Given the description of an element on the screen output the (x, y) to click on. 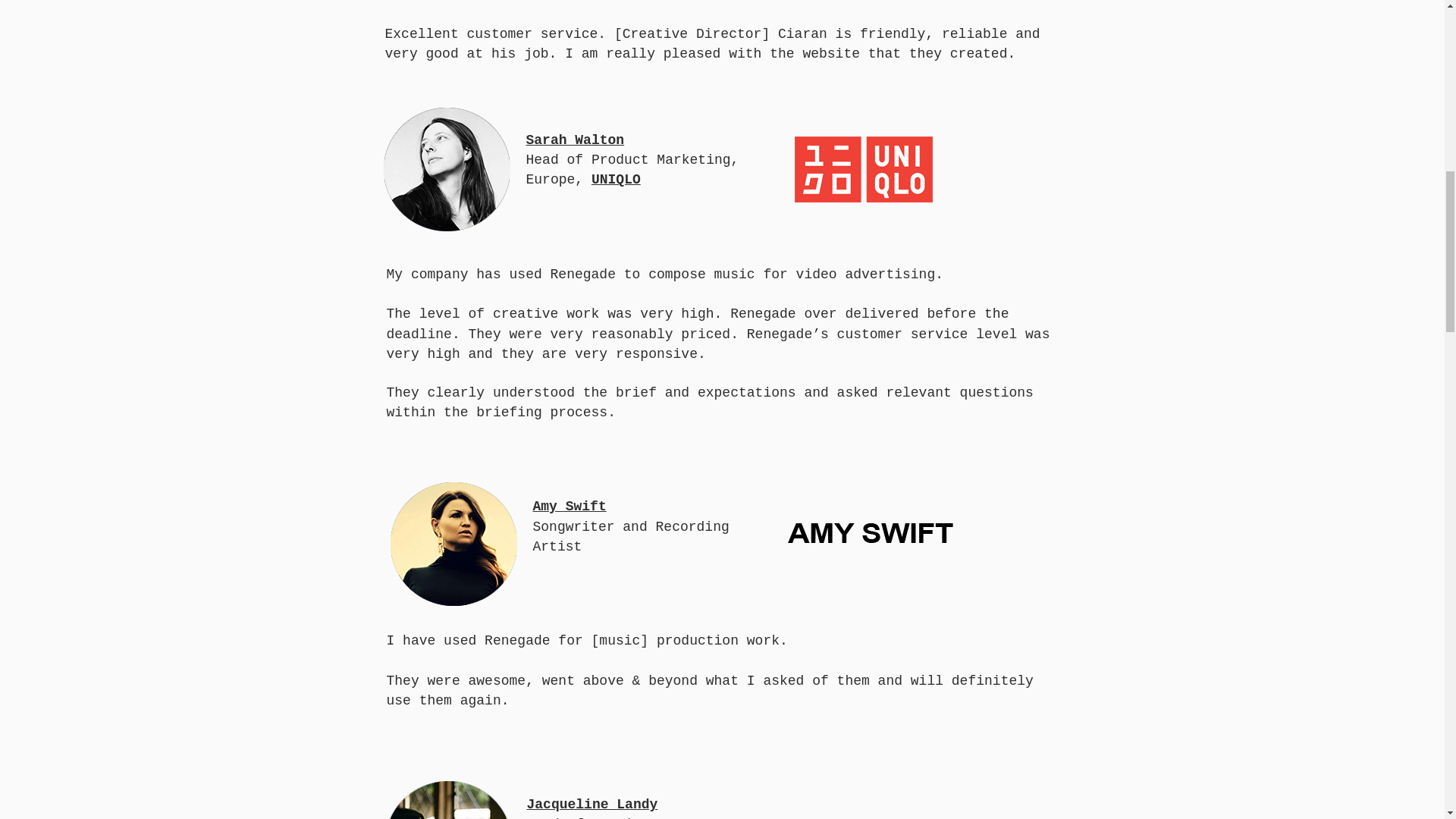
Sarah Walton (574, 139)
Amy Swift (568, 505)
UNIQLO (615, 179)
Jacqueline Landy (591, 803)
